Given the description of an element on the screen output the (x, y) to click on. 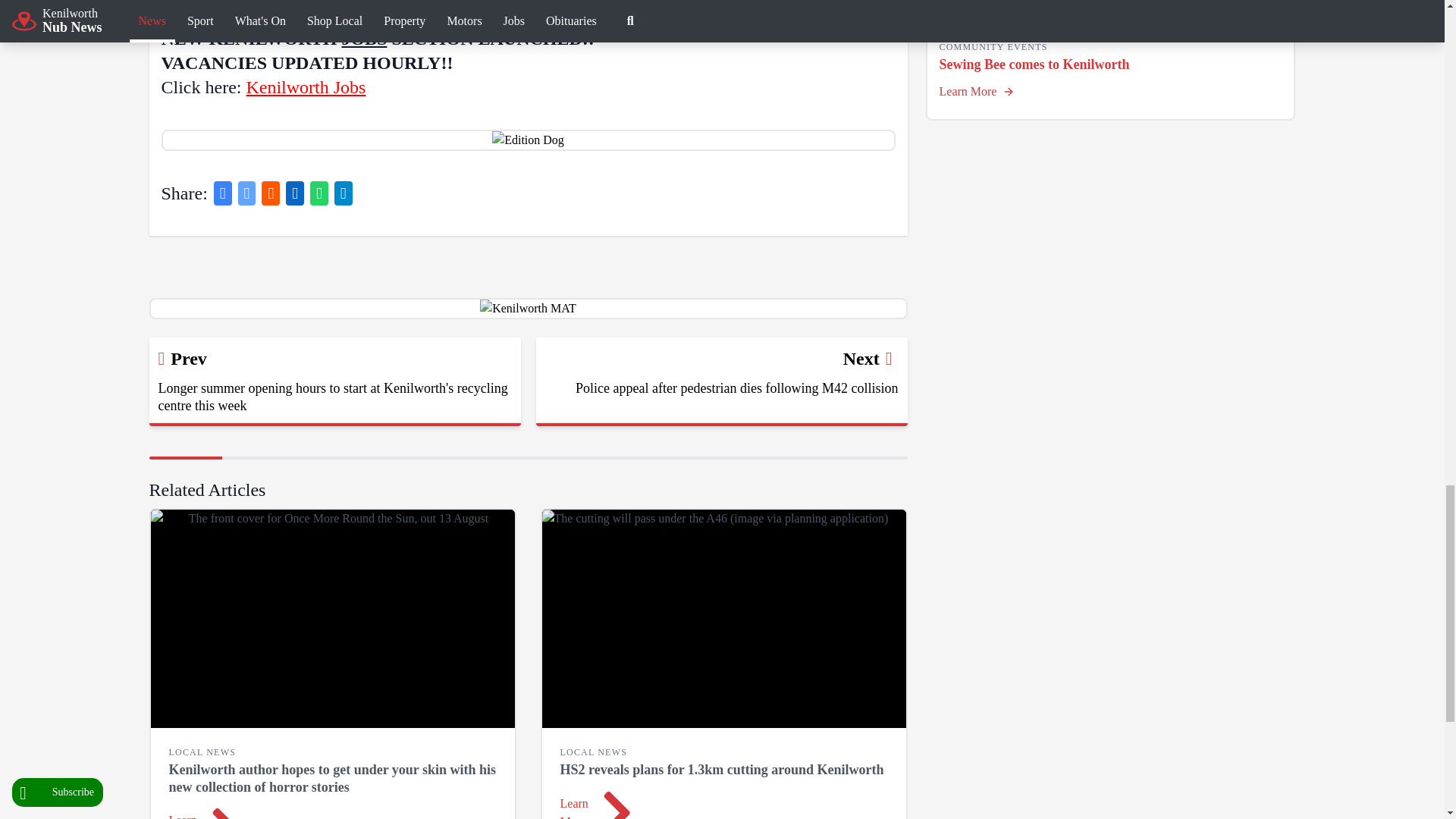
The front cover for Once More Round the Sun, out 13 August (331, 618)
Edition Dog (528, 140)
Sewing Bee comes to Kenilworth (1110, 19)
Kenilworth MAT (528, 308)
